Given the description of an element on the screen output the (x, y) to click on. 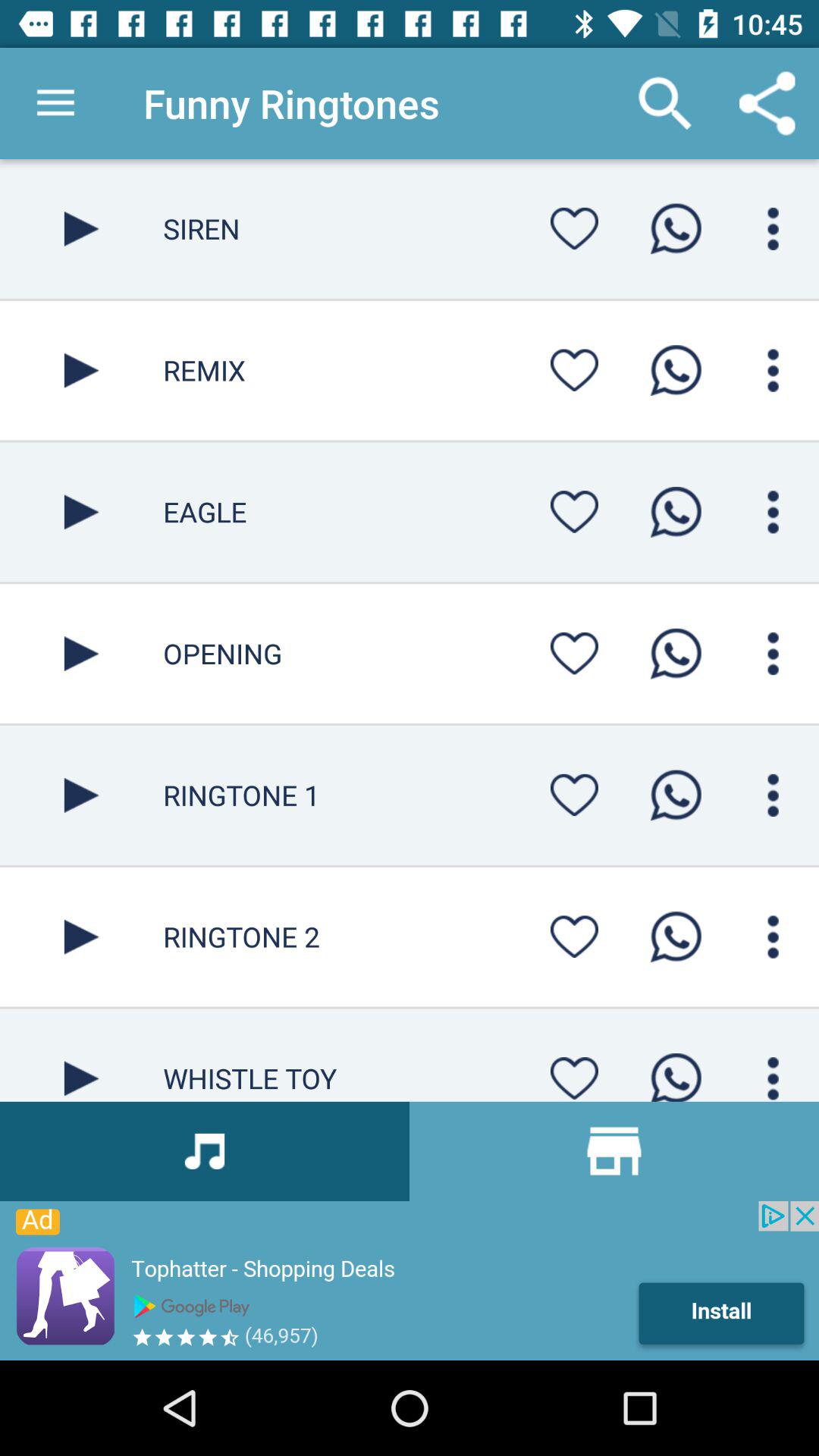
favorite the song (574, 511)
